Given the description of an element on the screen output the (x, y) to click on. 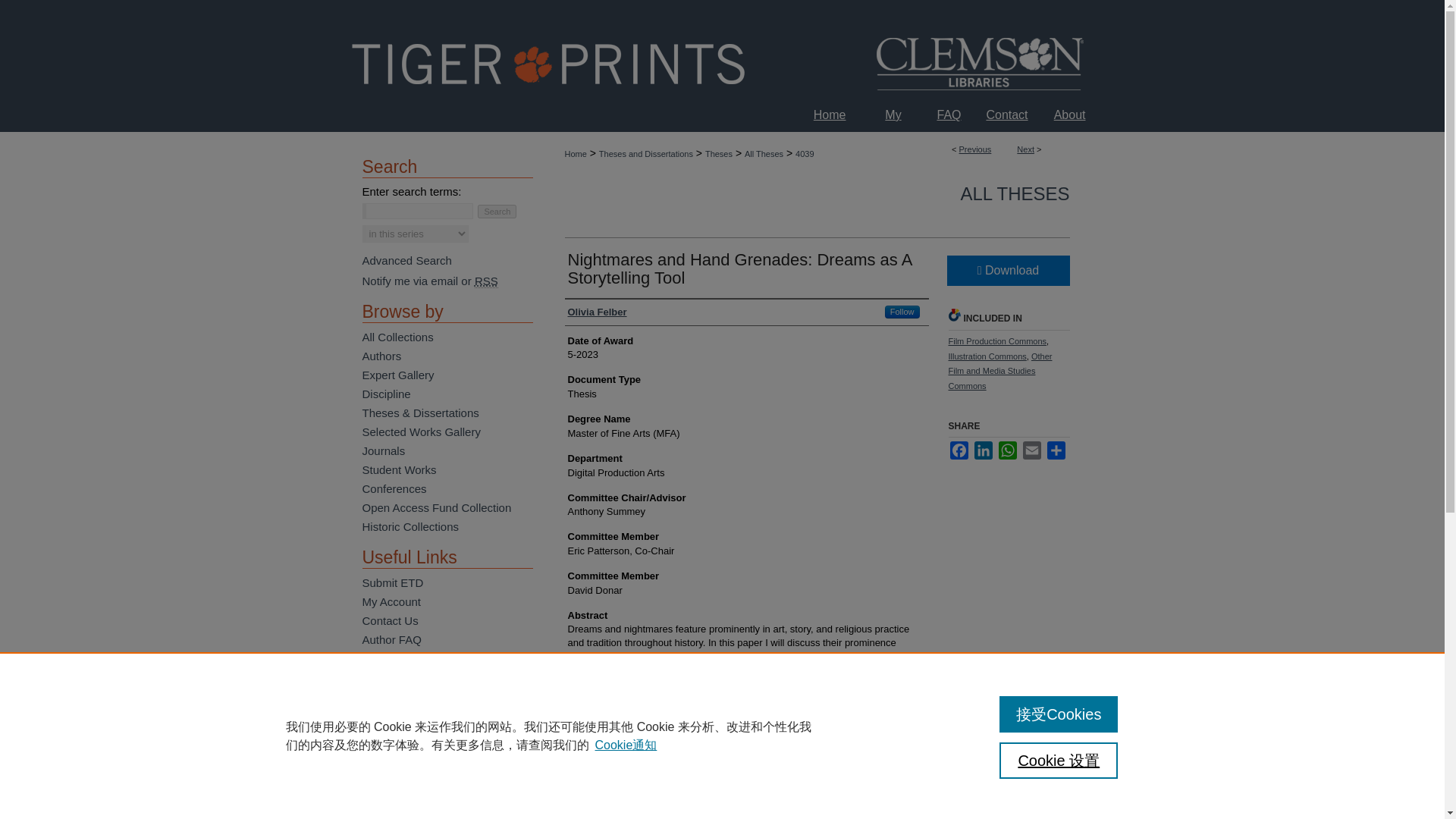
Theses (718, 153)
Illustration Commons (986, 356)
Film Production Commons (996, 340)
Search (496, 211)
Other Film and Media Studies Commons (999, 371)
Facebook (958, 450)
My Account (892, 114)
Home (575, 153)
Theses and Dissertations (645, 153)
Next (1024, 148)
Download (1007, 270)
Home (829, 114)
My Account (892, 114)
Other Film and Media Studies Commons (999, 371)
LinkedIn (982, 450)
